Given the description of an element on the screen output the (x, y) to click on. 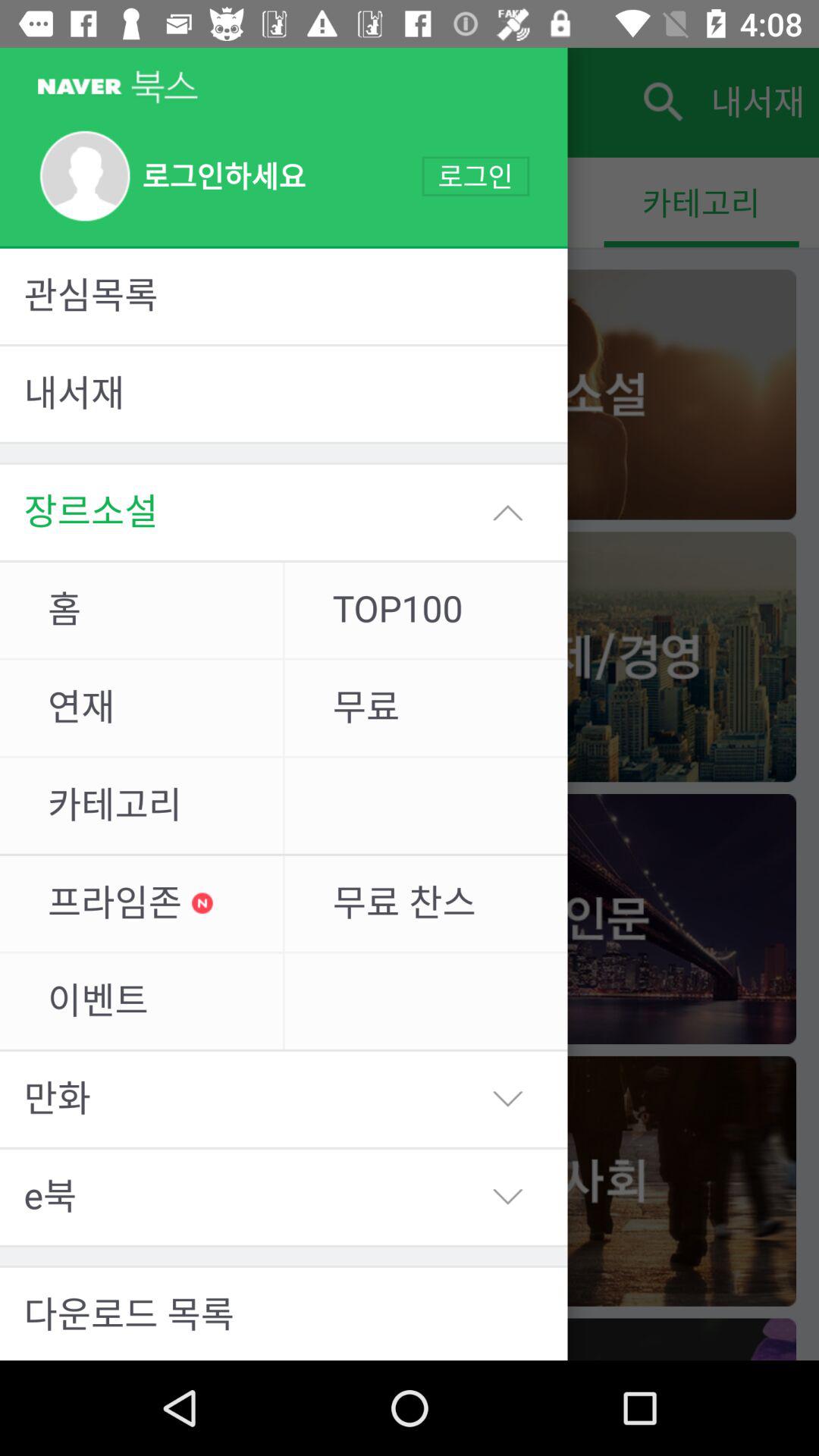
click on search bar (660, 102)
select the profile image (85, 176)
take the image at right bottom of the page (605, 1339)
enter the user name with user icon  under naver (171, 176)
